Given the description of an element on the screen output the (x, y) to click on. 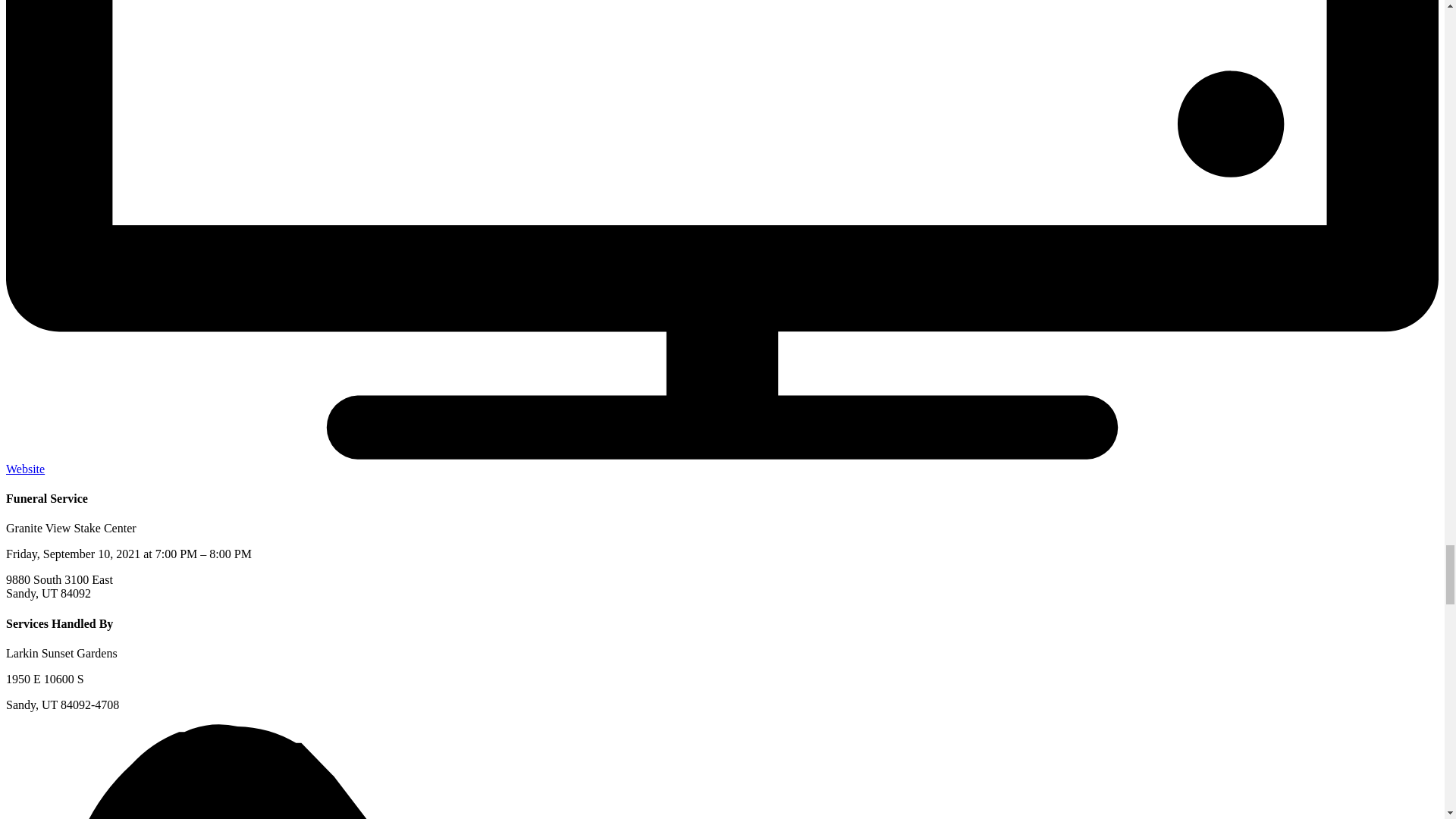
Website (25, 468)
